Given the description of an element on the screen output the (x, y) to click on. 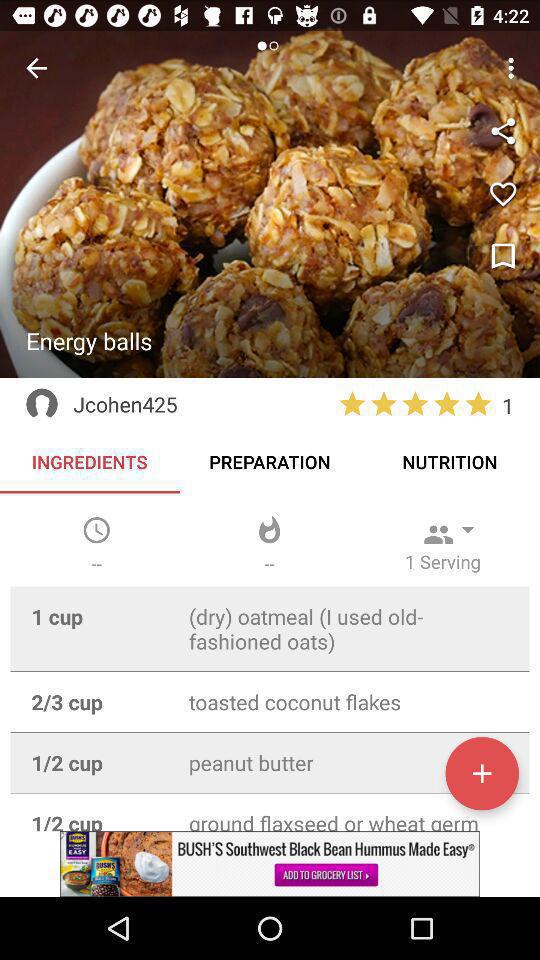
save image (503, 257)
